Given the description of an element on the screen output the (x, y) to click on. 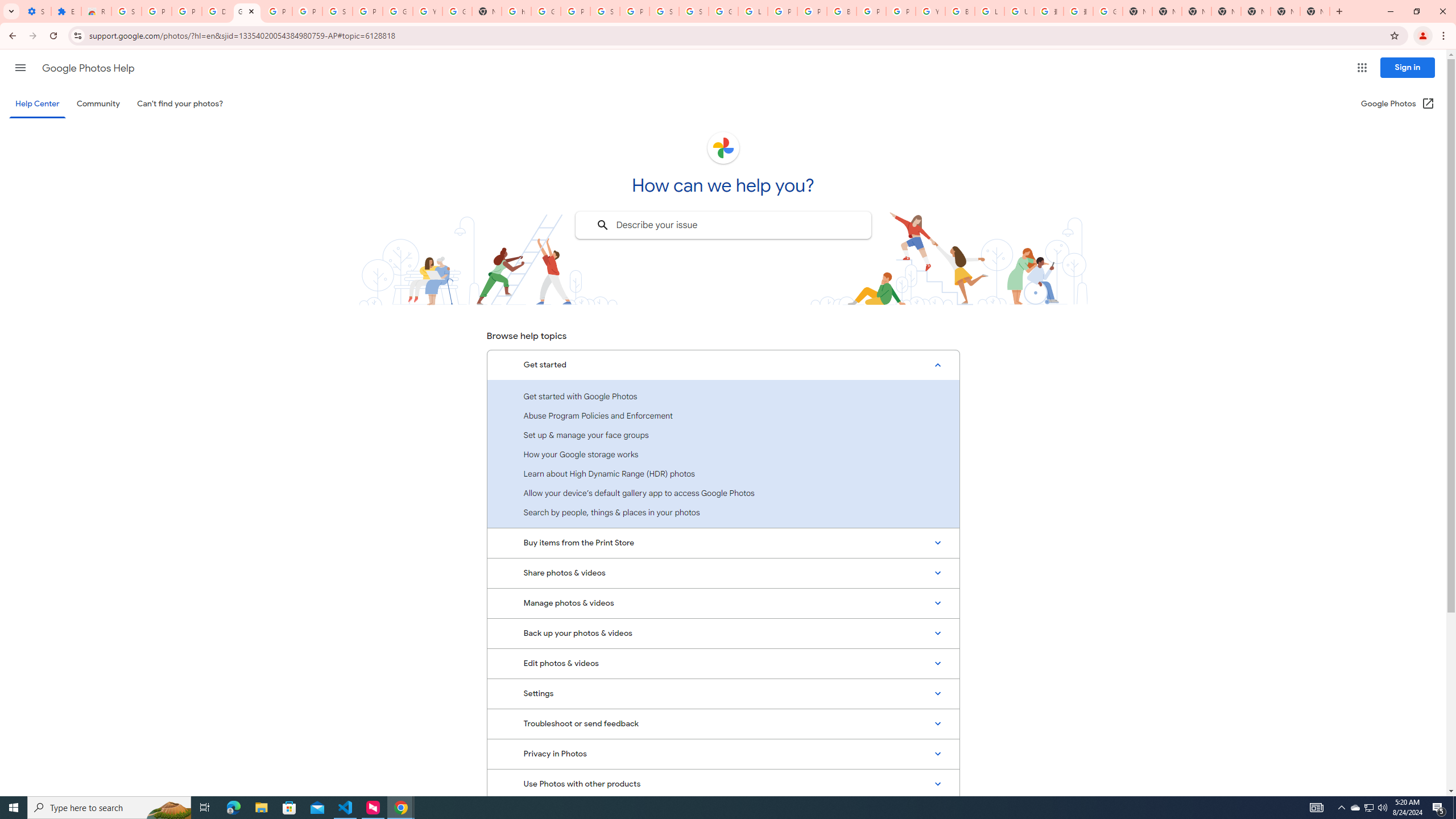
Main menu (20, 67)
New Tab (1226, 11)
Search by people, things & places in your photos (722, 512)
Reviews: Helix Fruit Jump Arcade Game (95, 11)
https://scholar.google.com/ (515, 11)
Google Photos Help (247, 11)
Sign in - Google Accounts (337, 11)
Back up your photos & videos (722, 633)
Learn about High Dynamic Range (HDR) photos (722, 473)
Sign in - Google Accounts (693, 11)
